Given the description of an element on the screen output the (x, y) to click on. 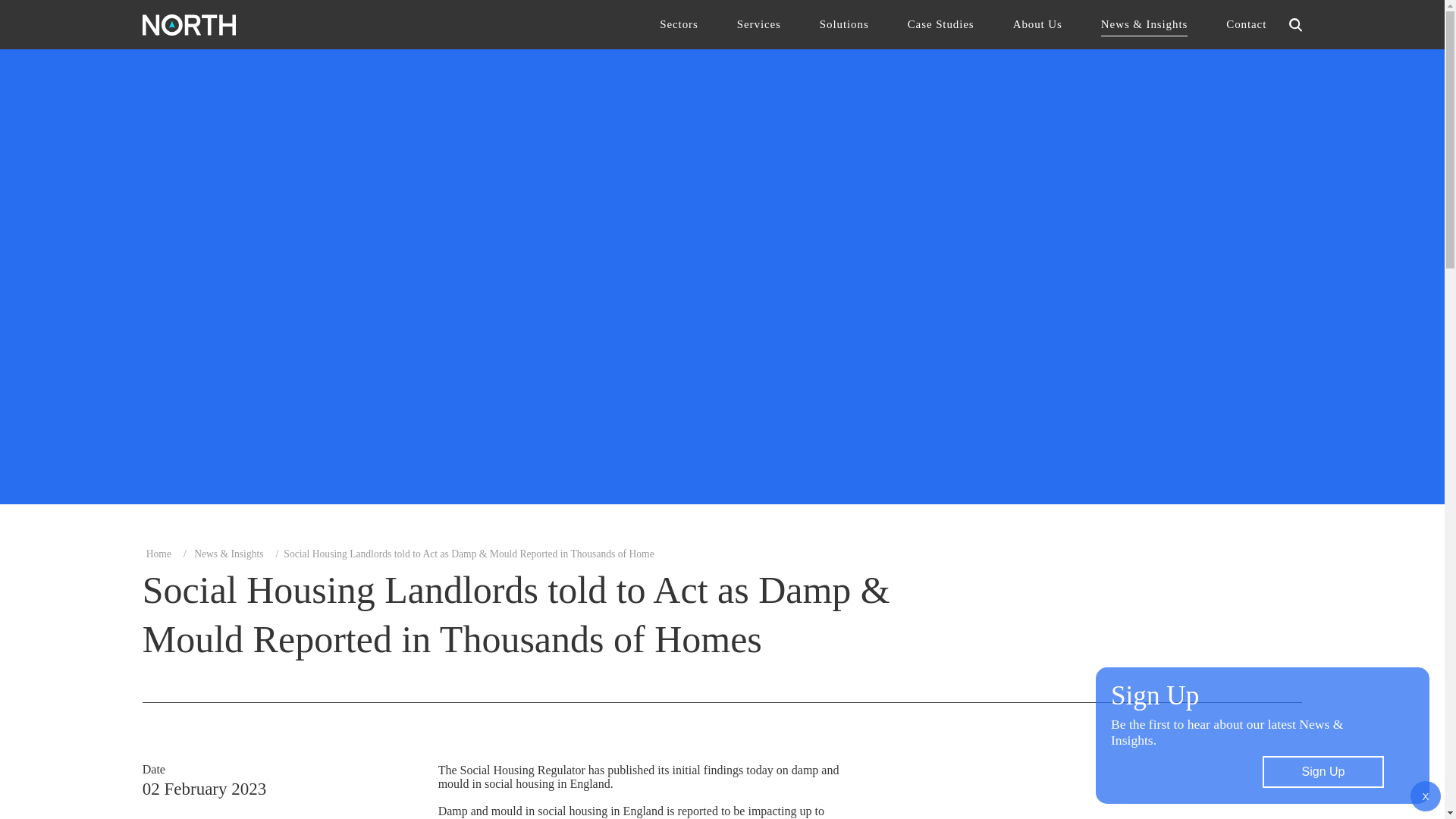
About Us (1037, 24)
Solutions (844, 24)
Case Studies (940, 24)
Services (758, 24)
Contact (1245, 24)
Sectors (678, 24)
